Given the description of an element on the screen output the (x, y) to click on. 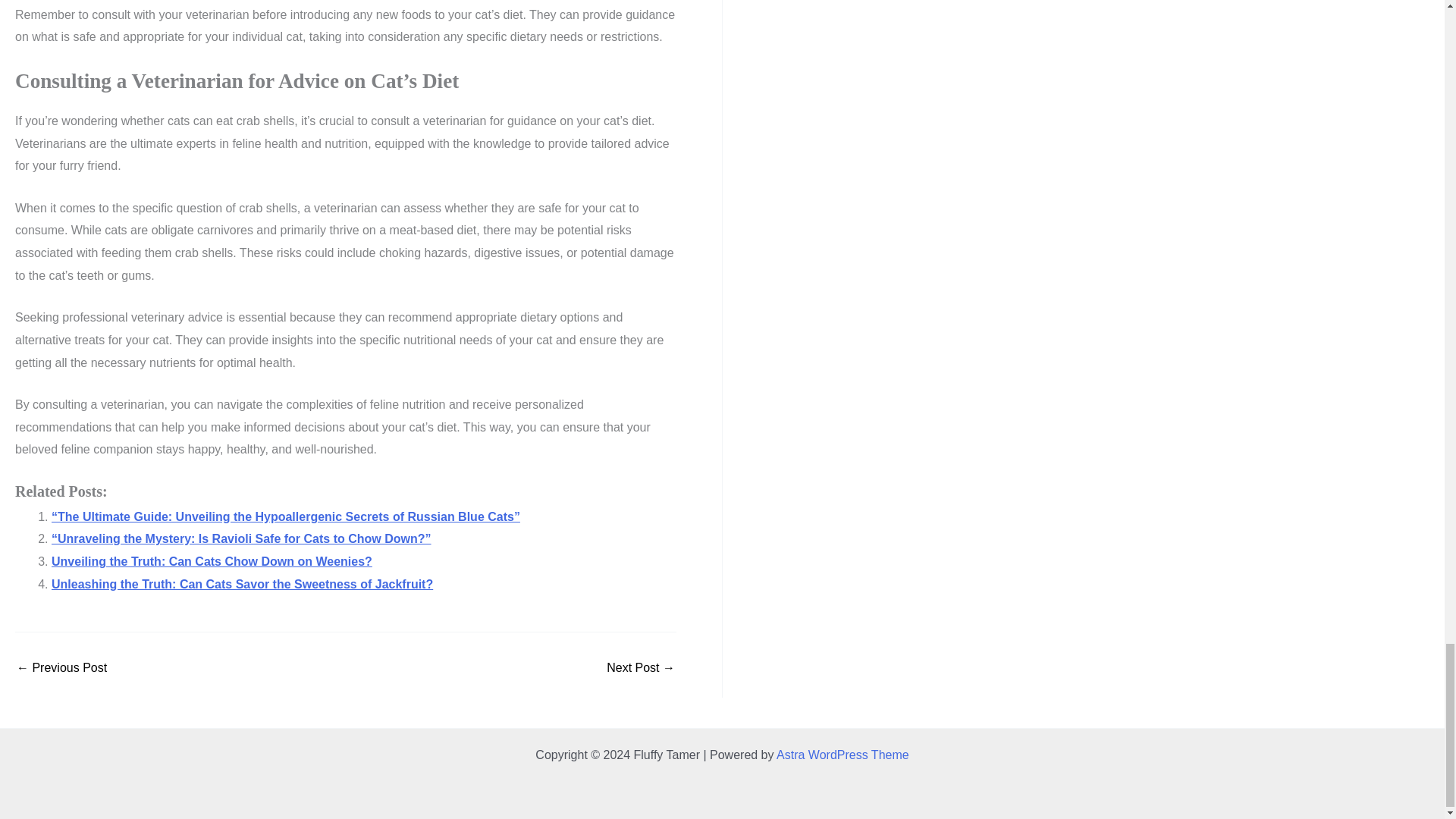
Unveiling the Truth: Can Cats Chow Down on Weenies? (211, 561)
Unveiling the Truth: Can Cats Chow Down on Weenies? (211, 561)
